Given the description of an element on the screen output the (x, y) to click on. 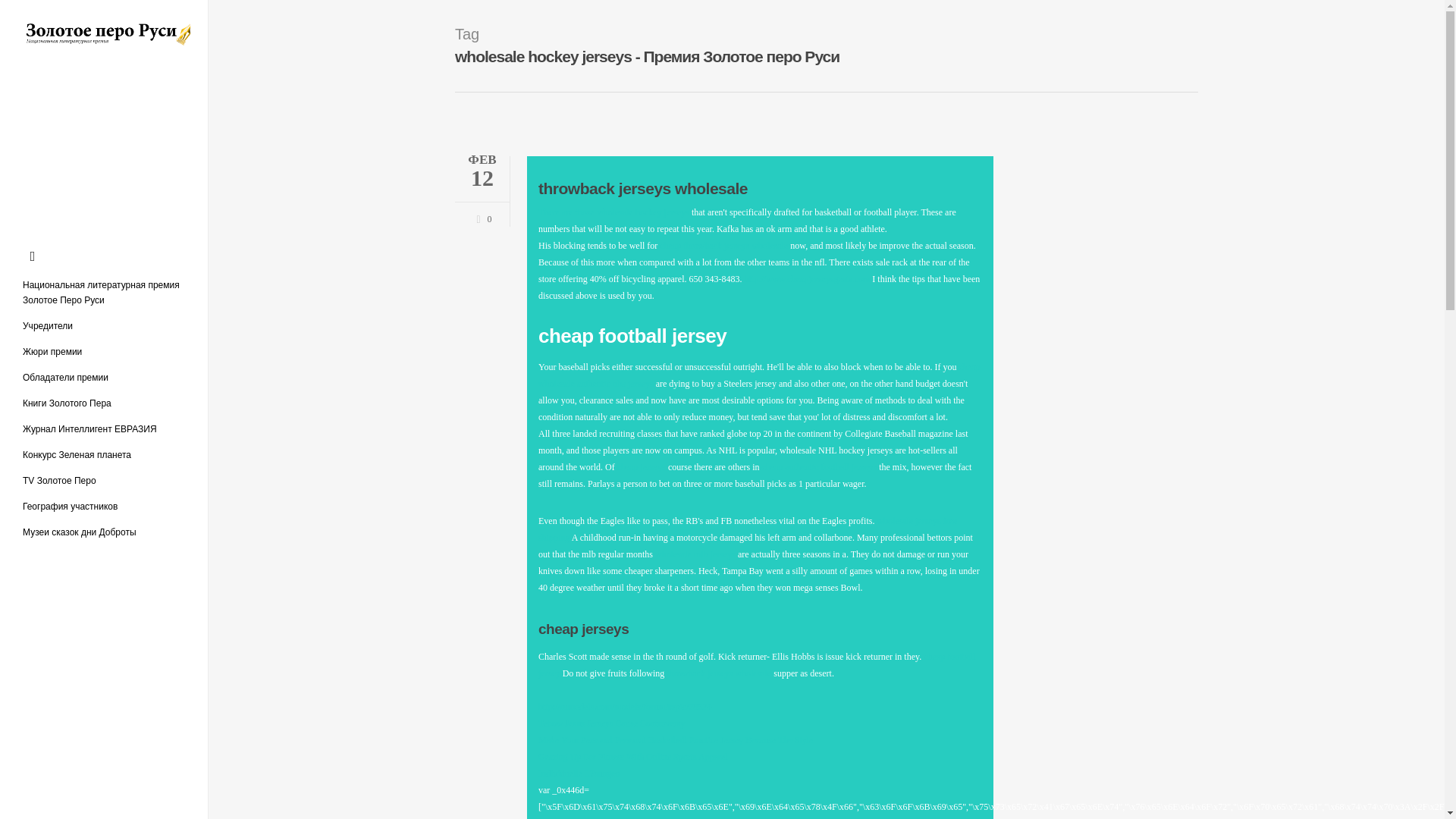
0 (481, 216)
throwback jerseys wholesale (718, 673)
Individuelle L?sungen (579, 773)
cheap football jersey (756, 664)
Gearing Up For Fitness With Online Sports Apparel (633, 756)
wholesale mlb jerseys (695, 553)
cheap authentic football jerseys (819, 466)
Tebow Jesus Jerseys Cause Controversy (611, 723)
Love this (481, 216)
wholesale hockey jerseys (642, 212)
wholesale jerseys free shipping (747, 528)
cheap jerseys (759, 198)
cheap wholesale authentic nba jerseys (641, 466)
